Given the description of an element on the screen output the (x, y) to click on. 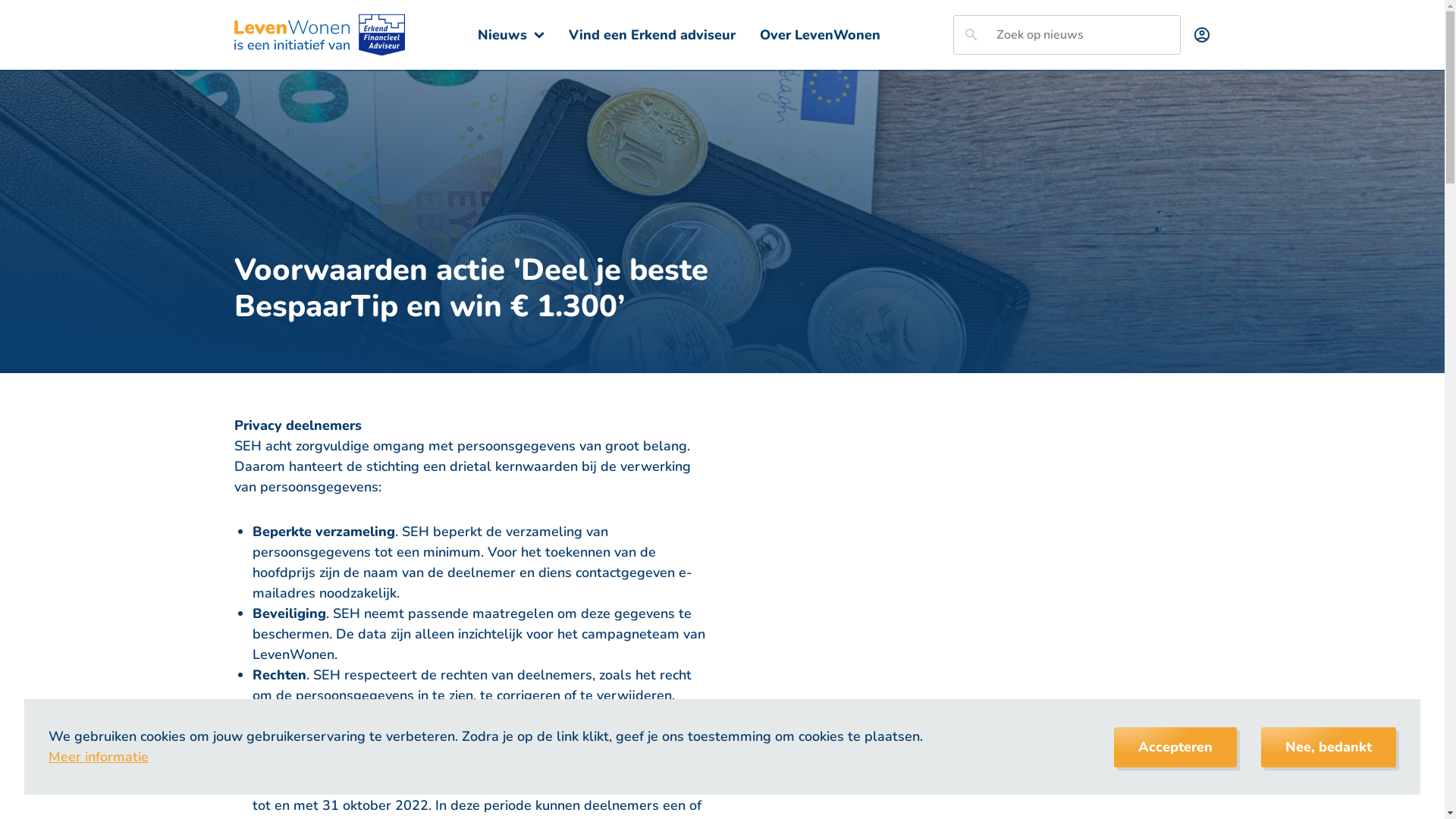
Overslaan en naar de inhoud gaan Element type: text (0, 0)
Over LevenWonen Element type: text (819, 34)
Vind een Erkend adviseur Element type: text (651, 34)
Accepteren Element type: text (1174, 747)
Nee, bedankt Element type: text (1328, 747)
Login Element type: text (1200, 34)
Home van LevenWonen Element type: hover (318, 34)
Nieuws Element type: text (510, 34)
Meer informatie Element type: text (98, 756)
Toepassen Element type: text (970, 34)
